Given the description of an element on the screen output the (x, y) to click on. 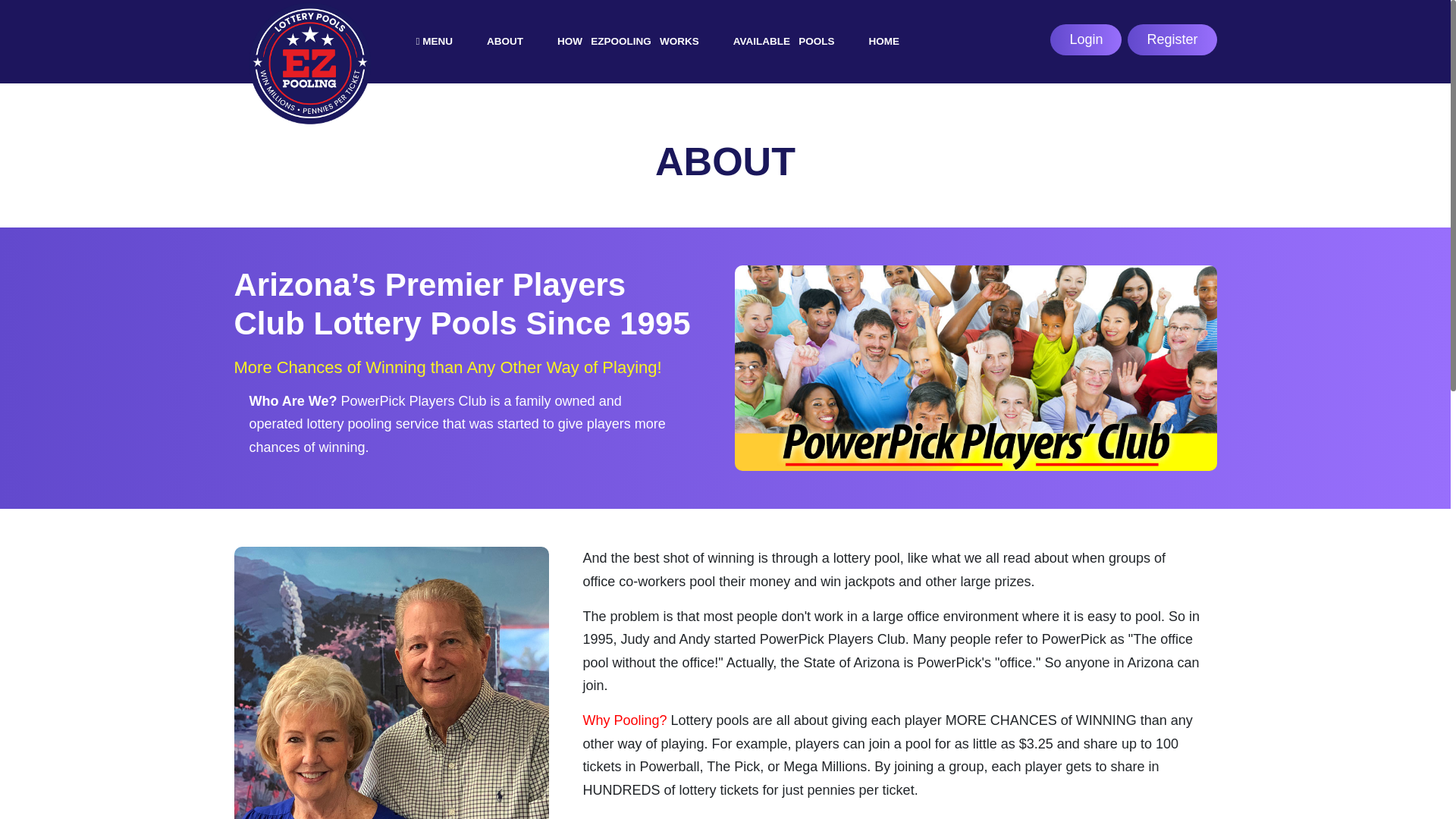
HOW   EZPOOLING   WORKS (627, 63)
AVAILABLE   POOLS (783, 62)
MENU (433, 66)
ABOUT (504, 66)
Register (1245, 39)
HOME (884, 60)
Login (1160, 39)
